Given the description of an element on the screen output the (x, y) to click on. 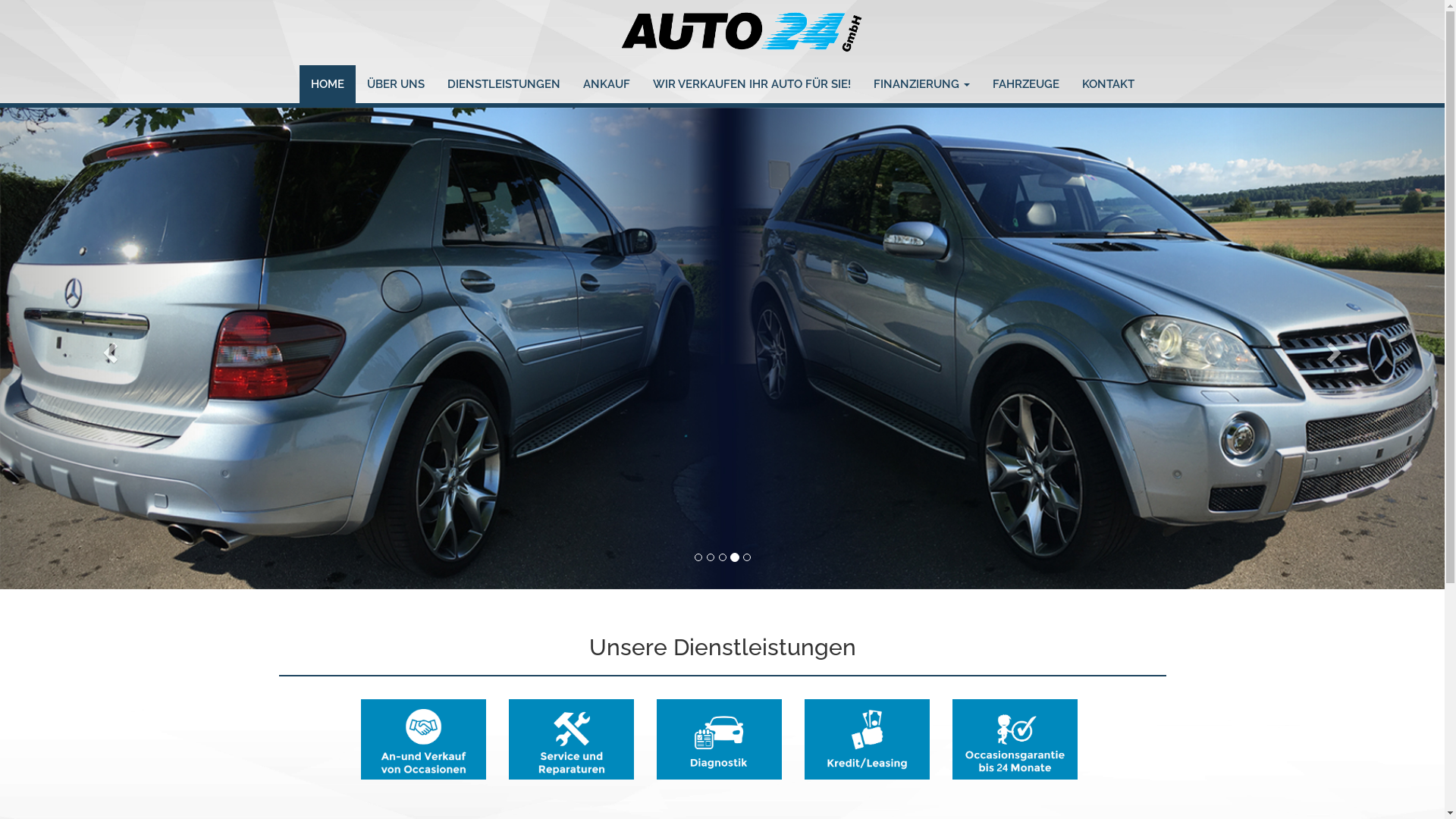
FAHRZEUGE Element type: text (1025, 84)
FINANZIERUNG Element type: text (920, 84)
HOME Element type: text (326, 84)
Next Element type: text (1335, 348)
KONTAKT Element type: text (1107, 84)
ANKAUF Element type: text (606, 84)
Previous Element type: text (108, 348)
DIENSTLEISTUNGEN Element type: text (503, 84)
